Given the description of an element on the screen output the (x, y) to click on. 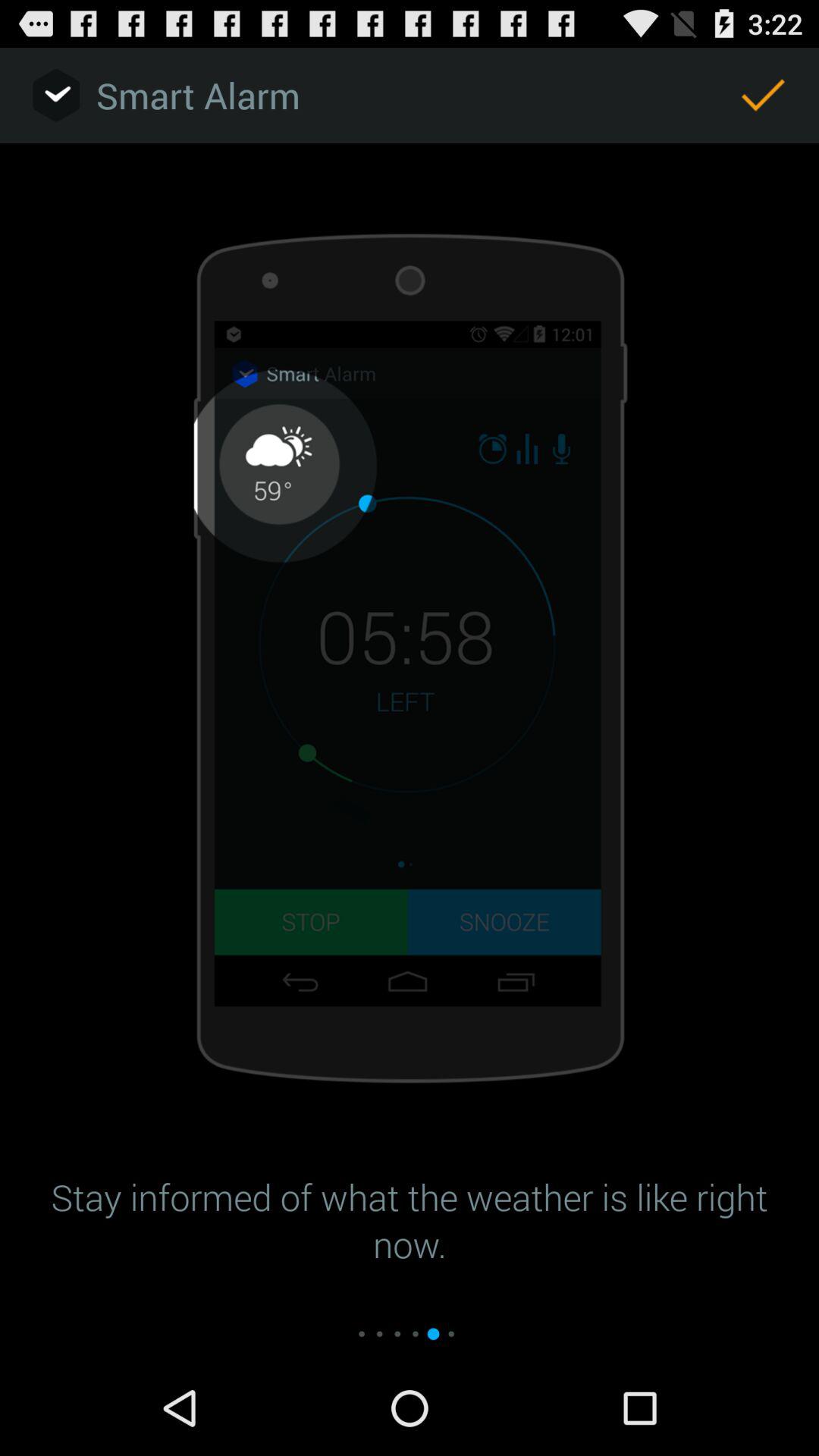
launch app to the right of smart alarm (763, 95)
